Given the description of an element on the screen output the (x, y) to click on. 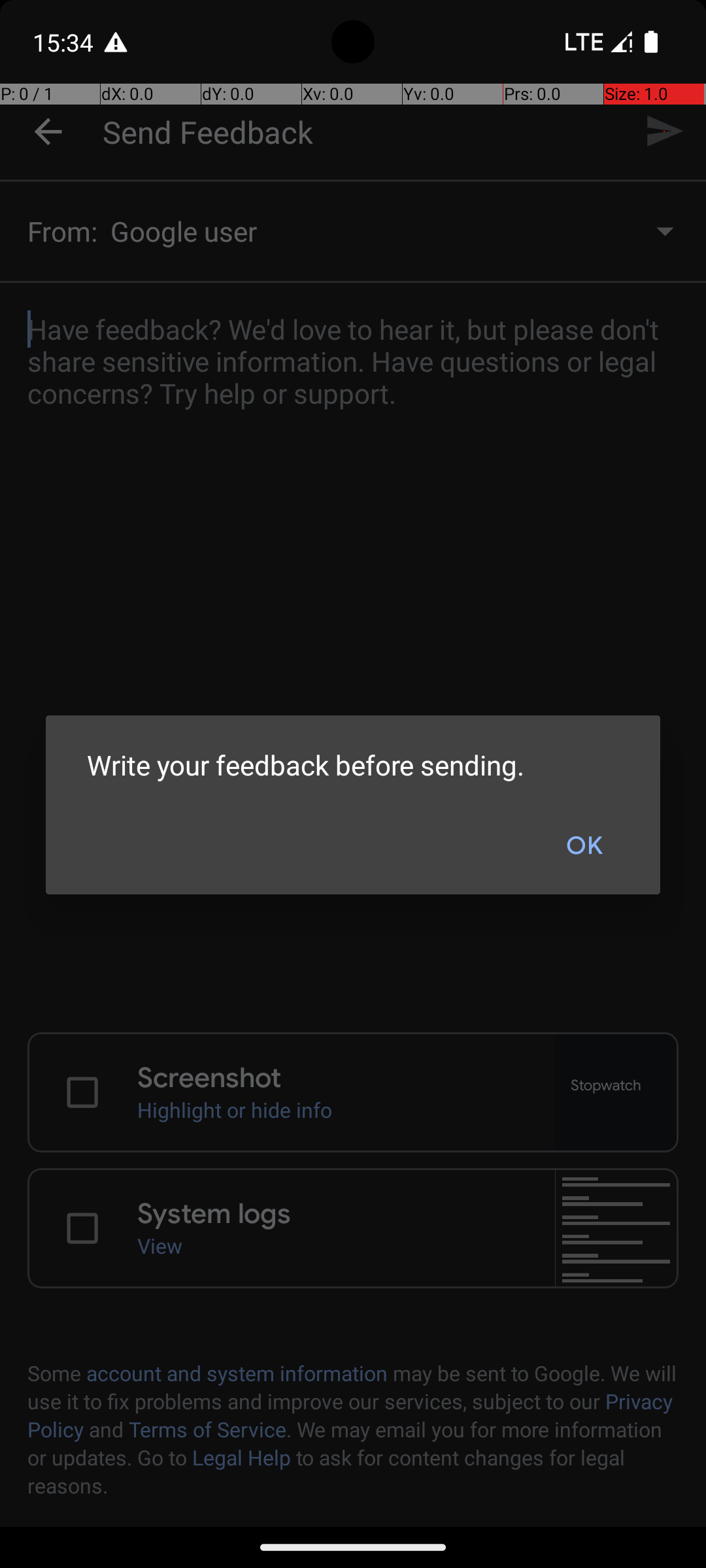
Write your feedback before sending. Element type: android.widget.TextView (352, 764)
OK Element type: android.widget.Button (584, 845)
